Given the description of an element on the screen output the (x, y) to click on. 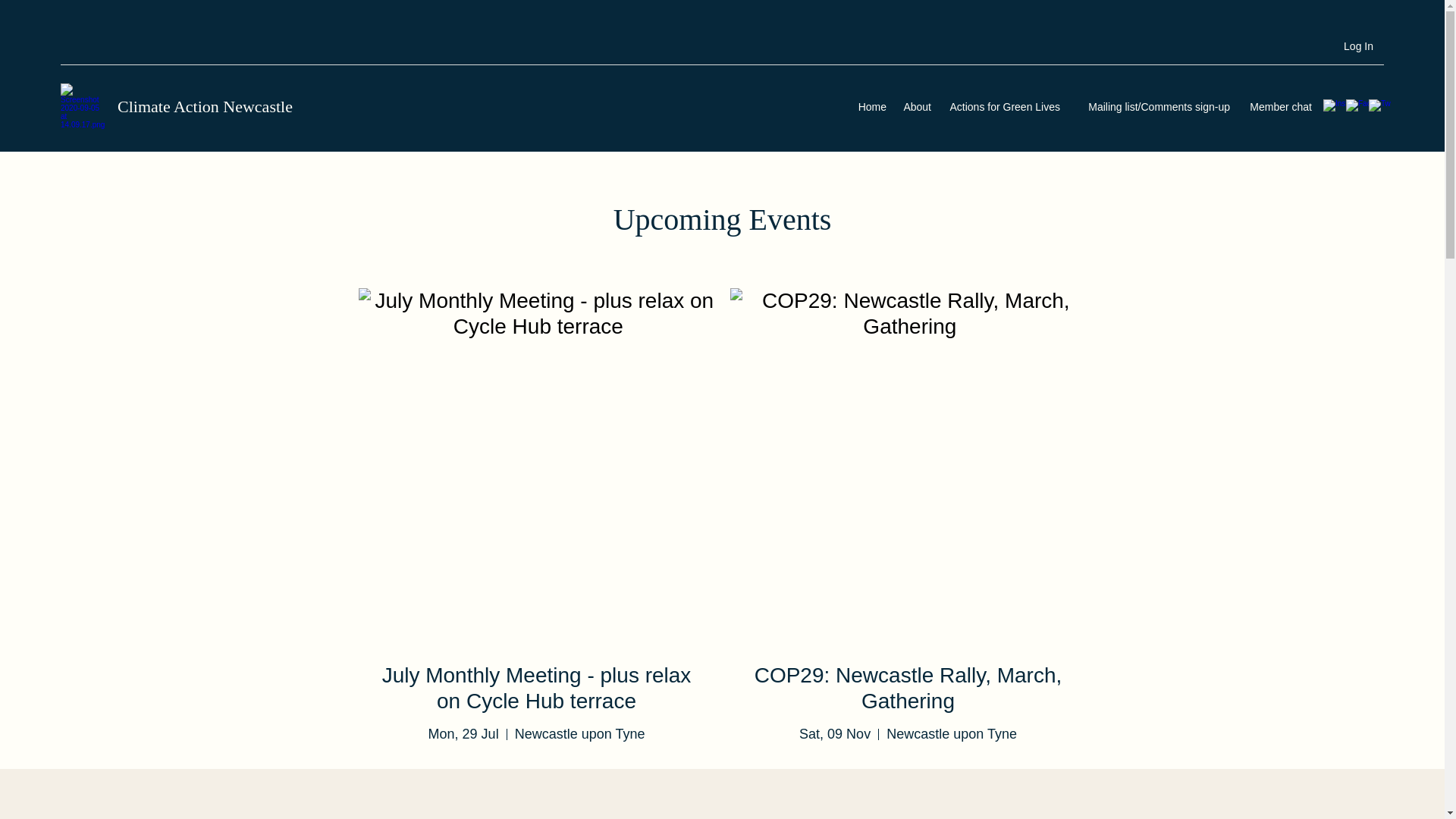
COP29: Newcastle Rally, March, Gathering (908, 687)
Details (536, 795)
Climate Action Newcastle (204, 106)
Member chat (1278, 106)
RSVP (908, 795)
Actions for Green Lives (1003, 106)
About (916, 106)
Log In (1358, 46)
Home (870, 106)
July Monthly Meeting - plus relax on Cycle Hub terrace (536, 687)
